Given the description of an element on the screen output the (x, y) to click on. 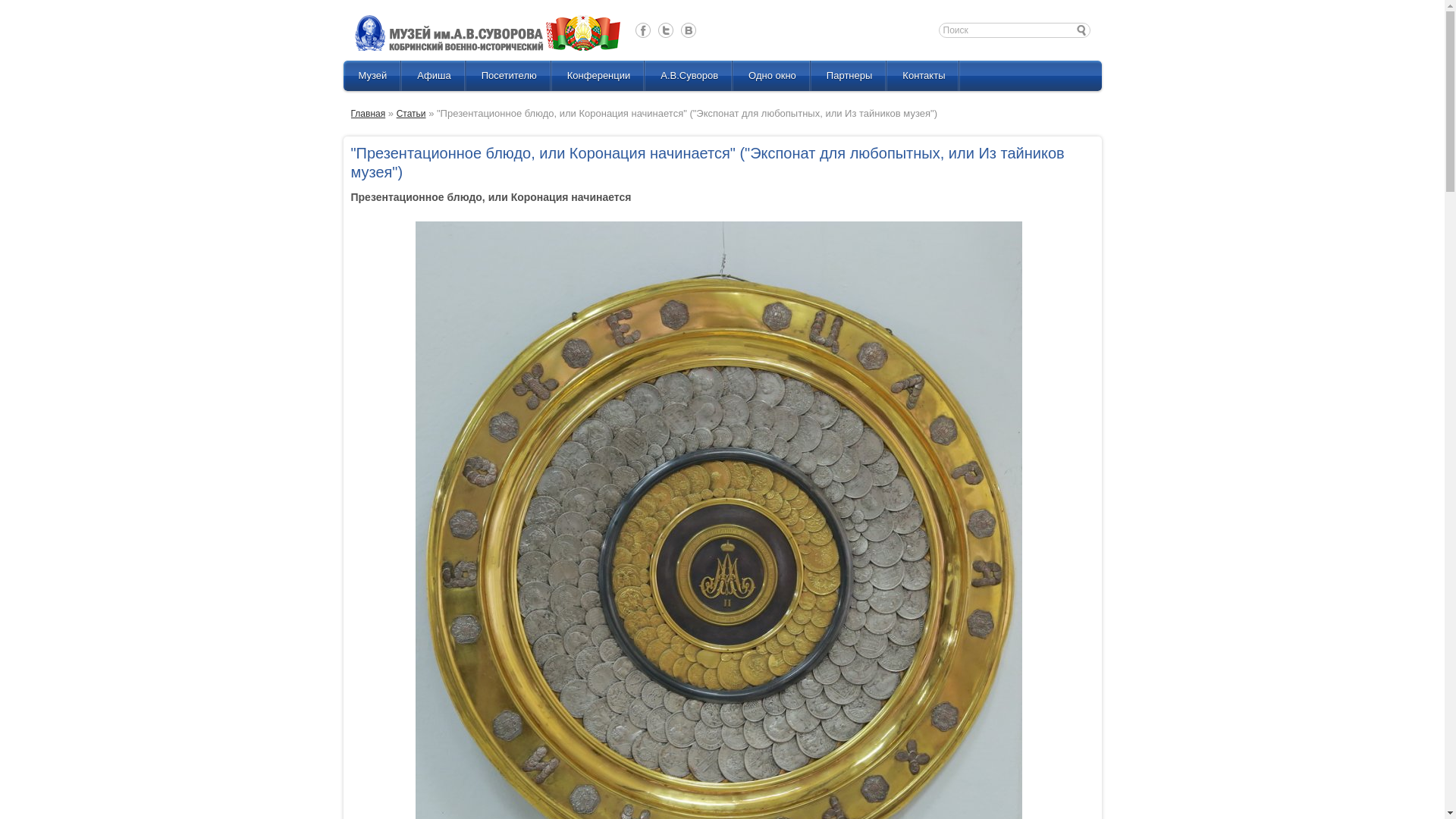
Facebook Element type: hover (642, 29)
Twitter Element type: hover (665, 29)
